Given the description of an element on the screen output the (x, y) to click on. 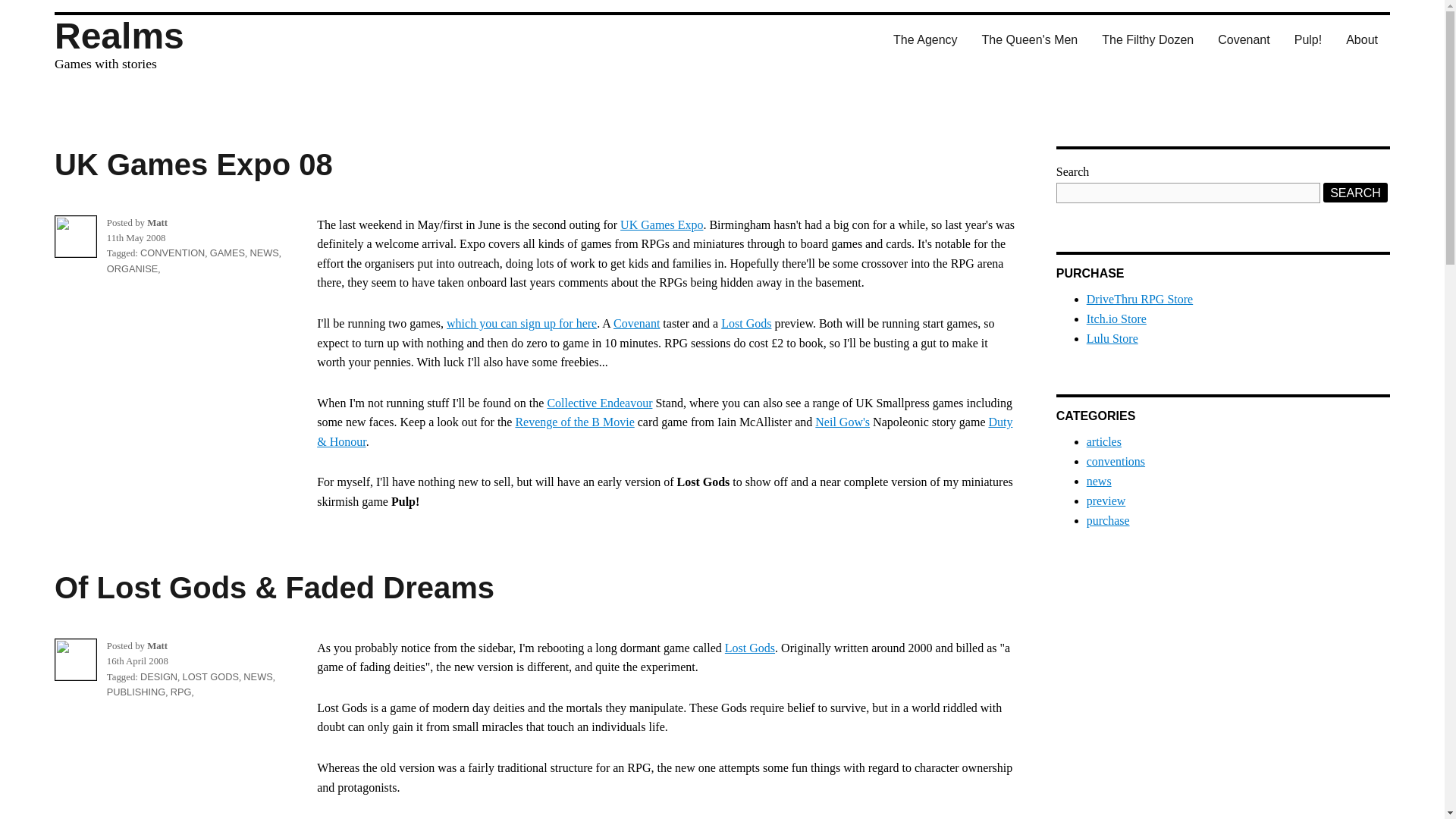
Covenant (1243, 40)
RPG (181, 691)
Digital download store (1116, 318)
NEWS (257, 676)
Buy our games at Lulu (1112, 338)
UK Games Expo (661, 224)
UK Games Expo 08 (194, 164)
The Agency (924, 40)
Collective Endeavour (599, 402)
Revenge of the B Movie (574, 421)
The Filthy Dozen (1147, 40)
LOST GODS (210, 676)
Lost Gods (749, 647)
which you can sign up for here (521, 323)
PUBLISHING (135, 691)
